Given the description of an element on the screen output the (x, y) to click on. 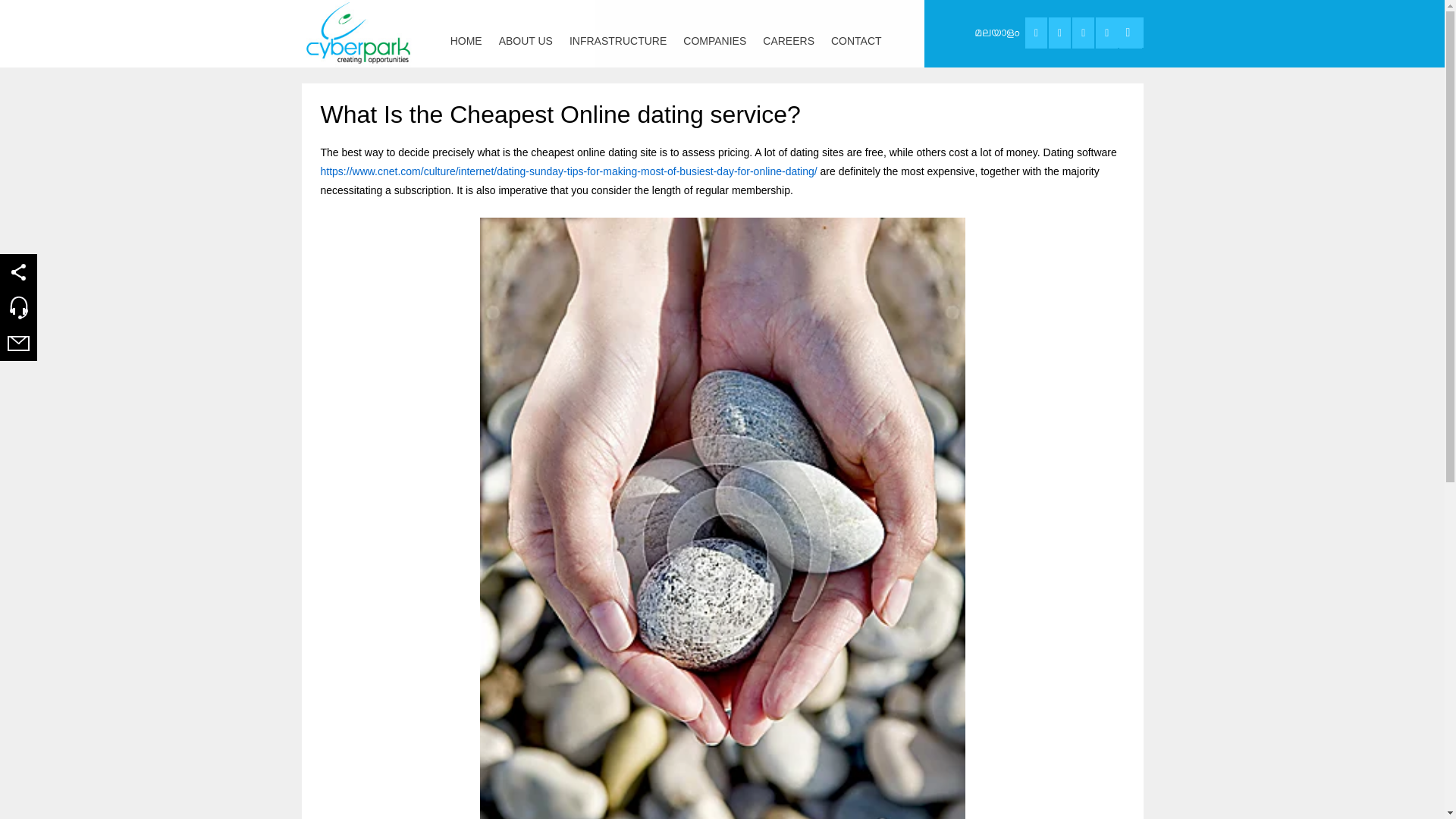
ABOUT US (525, 33)
CONTACT (855, 33)
INFRASTRUCTURE (617, 33)
English (997, 32)
CAREERS (788, 33)
COMPANIES (714, 33)
